Given the description of an element on the screen output the (x, y) to click on. 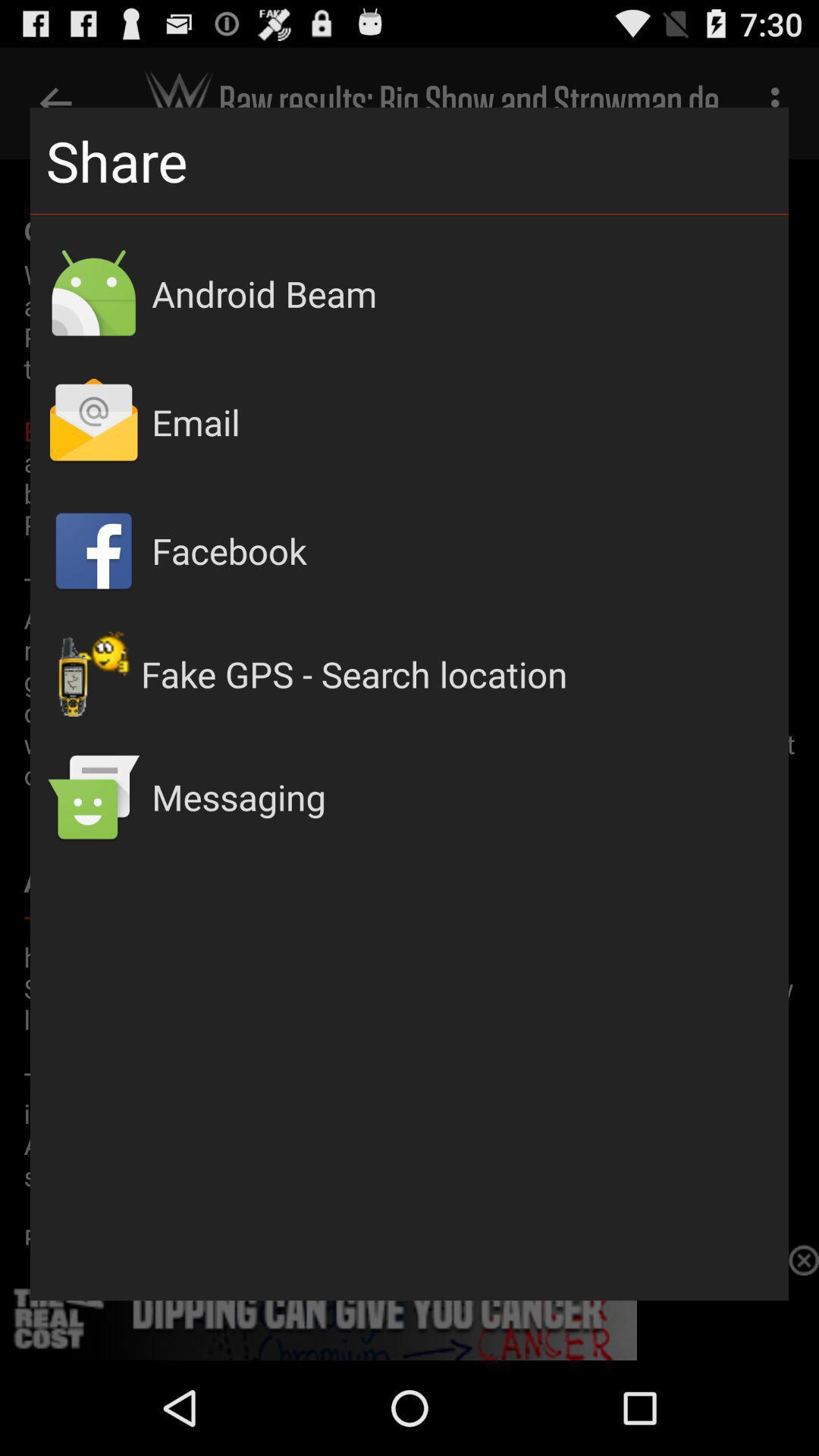
scroll until email app (461, 422)
